Given the description of an element on the screen output the (x, y) to click on. 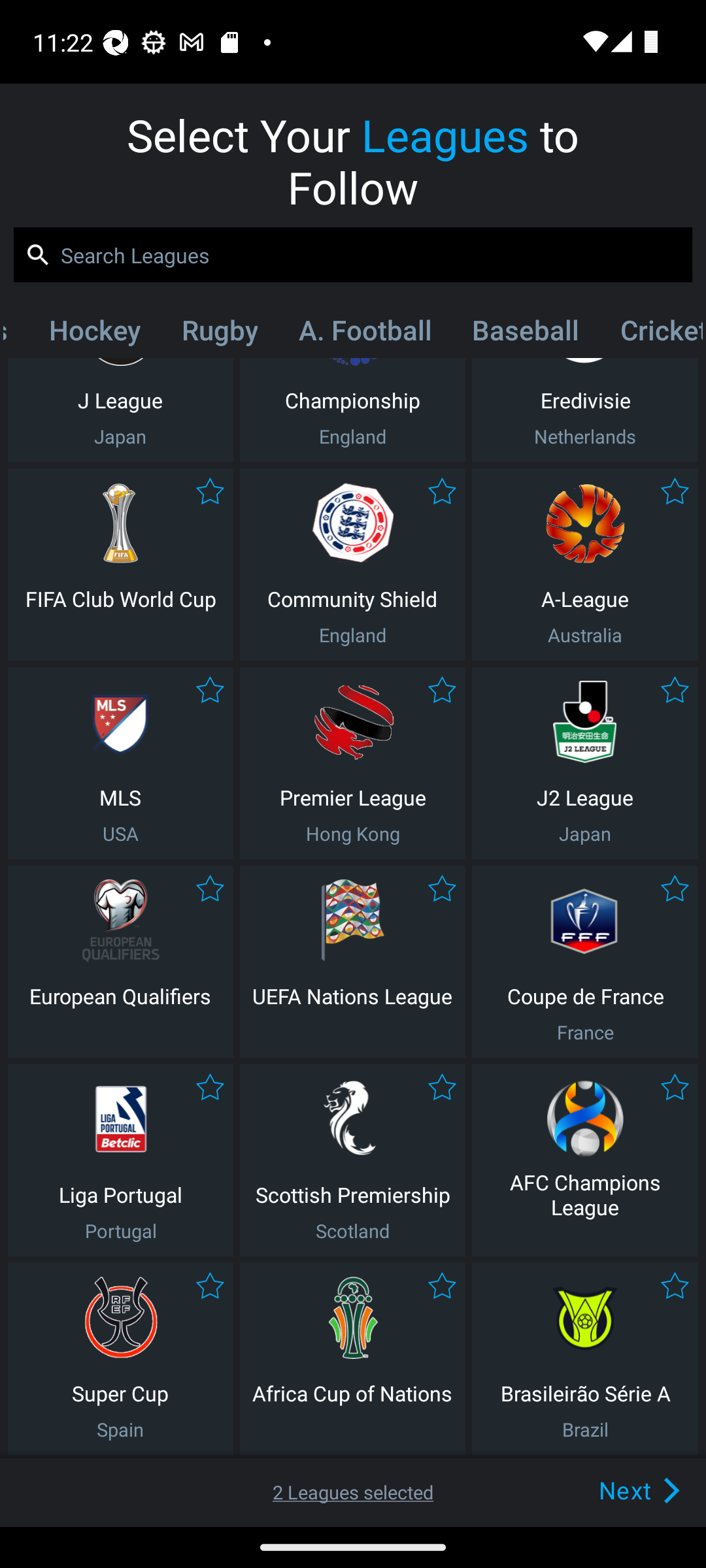
Search Leagues (352, 254)
Hockey (94, 333)
Rugby (219, 333)
A. Football (364, 333)
Baseball (525, 333)
Cricket (650, 333)
FIFA Club World Cup (120, 564)
Community Shield England (352, 564)
A-League Australia (585, 564)
MLS USA (120, 762)
Premier League Hong Kong (352, 762)
J2 League Japan (585, 762)
European Qualifiers (120, 961)
UEFA Nations League (352, 961)
Coupe de France France (585, 961)
Liga Portugal Portugal (120, 1159)
Scottish Premiership Scotland (352, 1159)
AFC Champions League (585, 1159)
Super Cup Spain (120, 1358)
Africa Cup of Nations (352, 1358)
Brasileirão Série A Brazil (585, 1358)
Next (609, 1489)
2 Leagues selected (352, 1491)
